Given the description of an element on the screen output the (x, y) to click on. 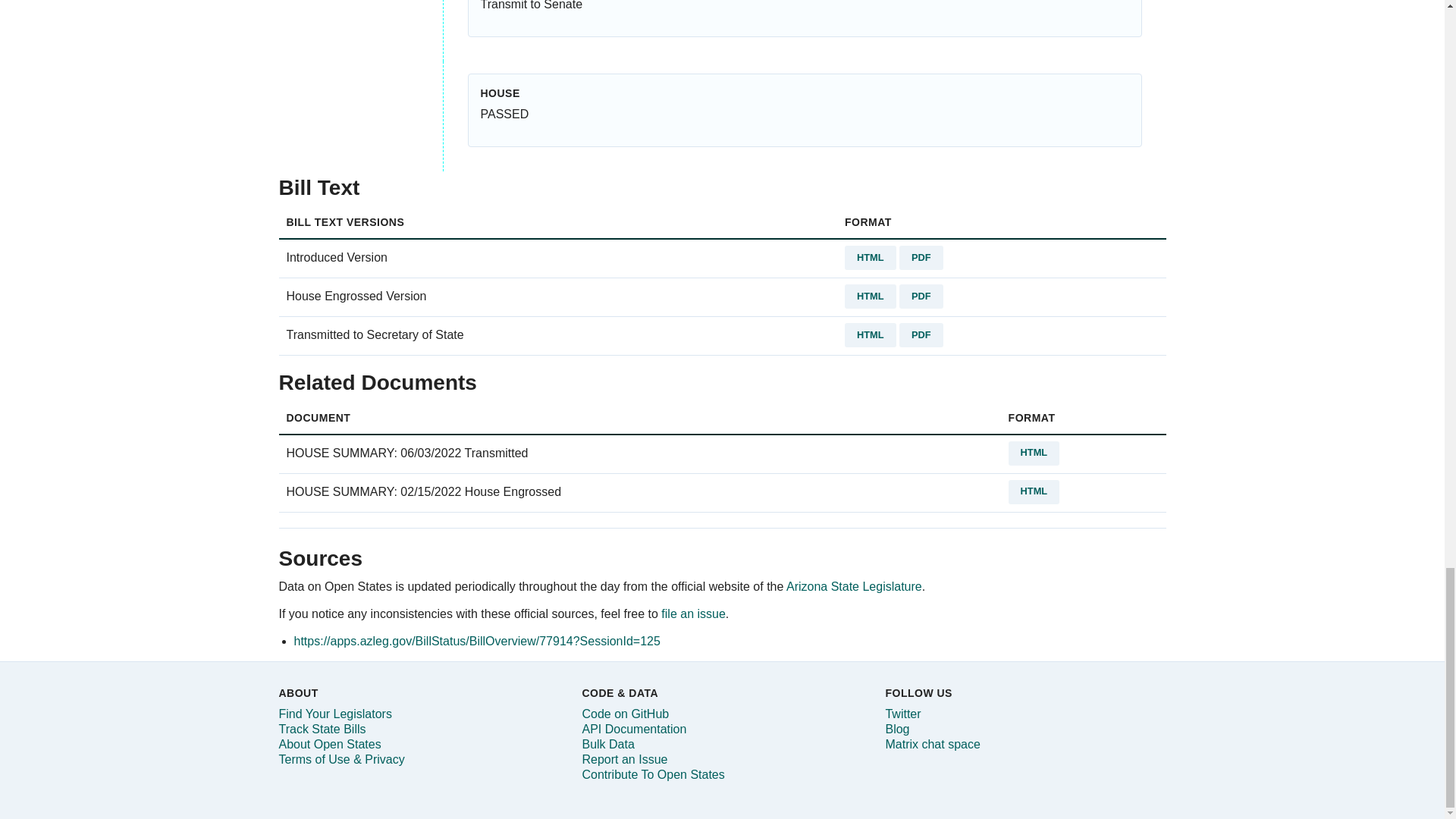
HTML (870, 334)
PDF (921, 334)
About Open States (330, 744)
Find Your Legislators (335, 713)
HTML (870, 257)
Arizona State Legislature (853, 585)
HTML (870, 296)
PDF (921, 257)
file an issue (693, 613)
API Documentation (632, 728)
Blog (896, 728)
Twitter (902, 713)
Bulk Data (606, 744)
Report an Issue (623, 758)
Code on GitHub (624, 713)
